Given the description of an element on the screen output the (x, y) to click on. 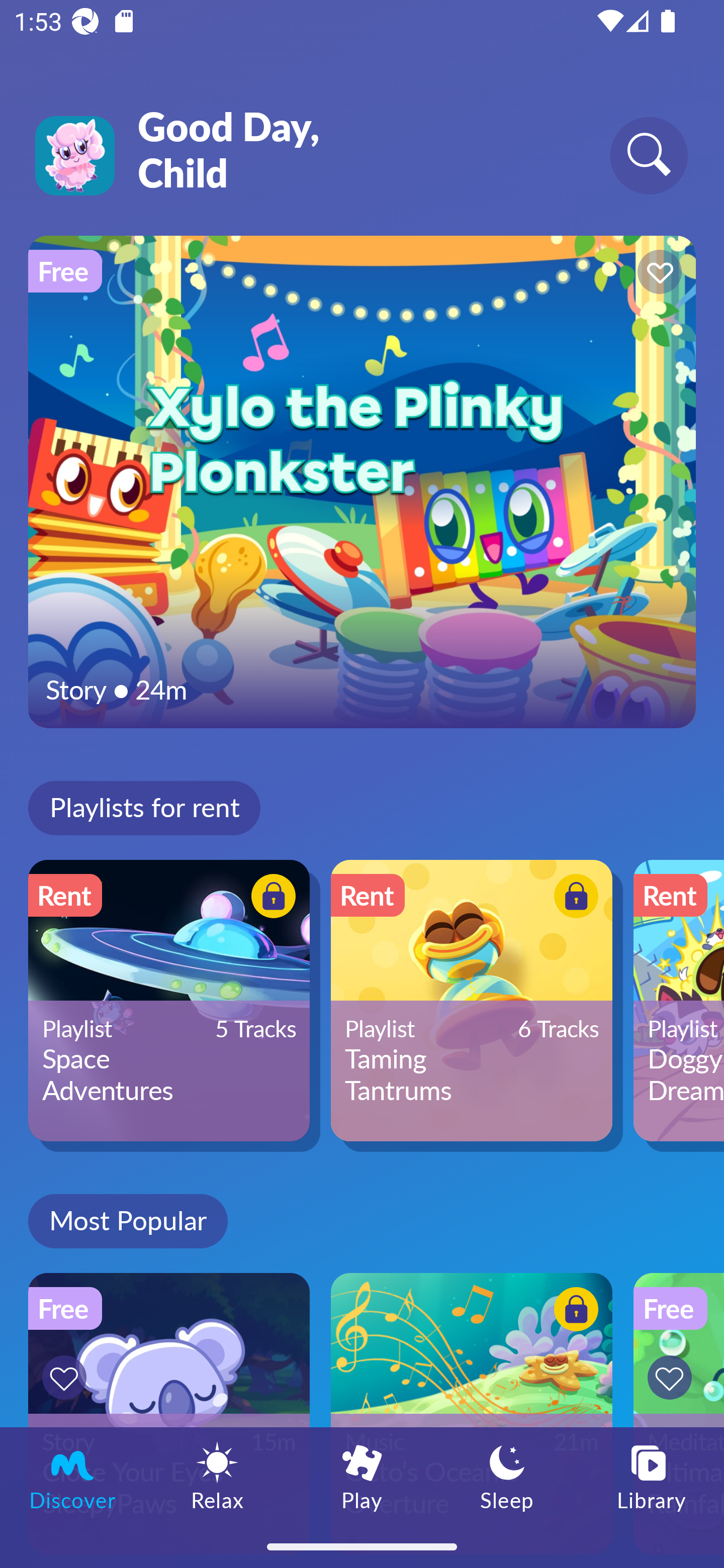
Search (648, 154)
Featured Content Free Button Story ● 24m (361, 481)
Button (656, 274)
Button (269, 898)
Button (573, 898)
Button (573, 1312)
Button (67, 1377)
Button (672, 1377)
Relax (216, 1475)
Play (361, 1475)
Sleep (506, 1475)
Library (651, 1475)
